Given the description of an element on the screen output the (x, y) to click on. 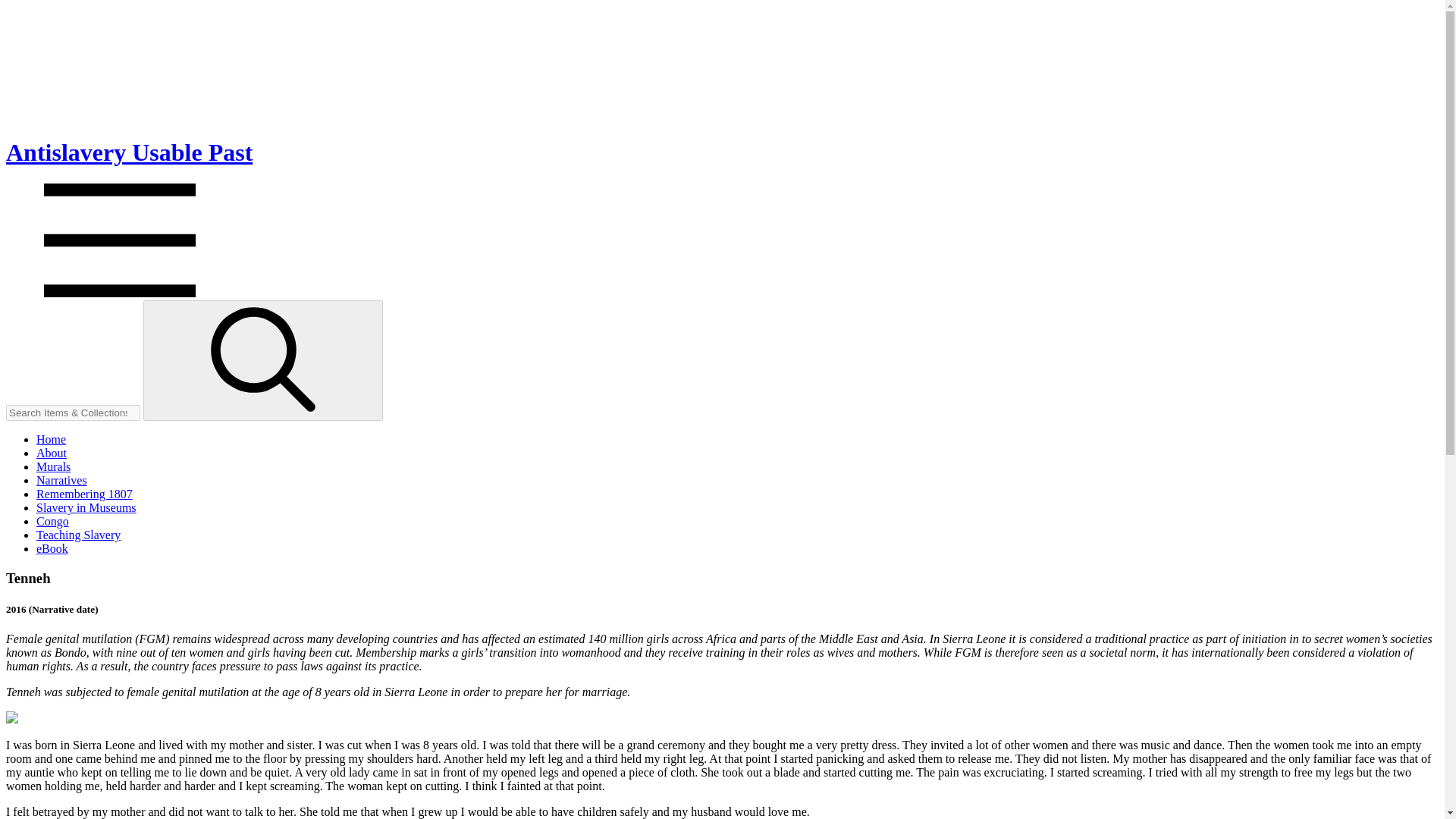
Narratives (61, 480)
Search (262, 360)
About (51, 452)
Slavery in Museums (86, 507)
Open Menu (118, 240)
Open Menu (118, 292)
Search (262, 360)
Search (263, 359)
Murals (52, 466)
Teaching Slavery (78, 534)
